Given the description of an element on the screen output the (x, y) to click on. 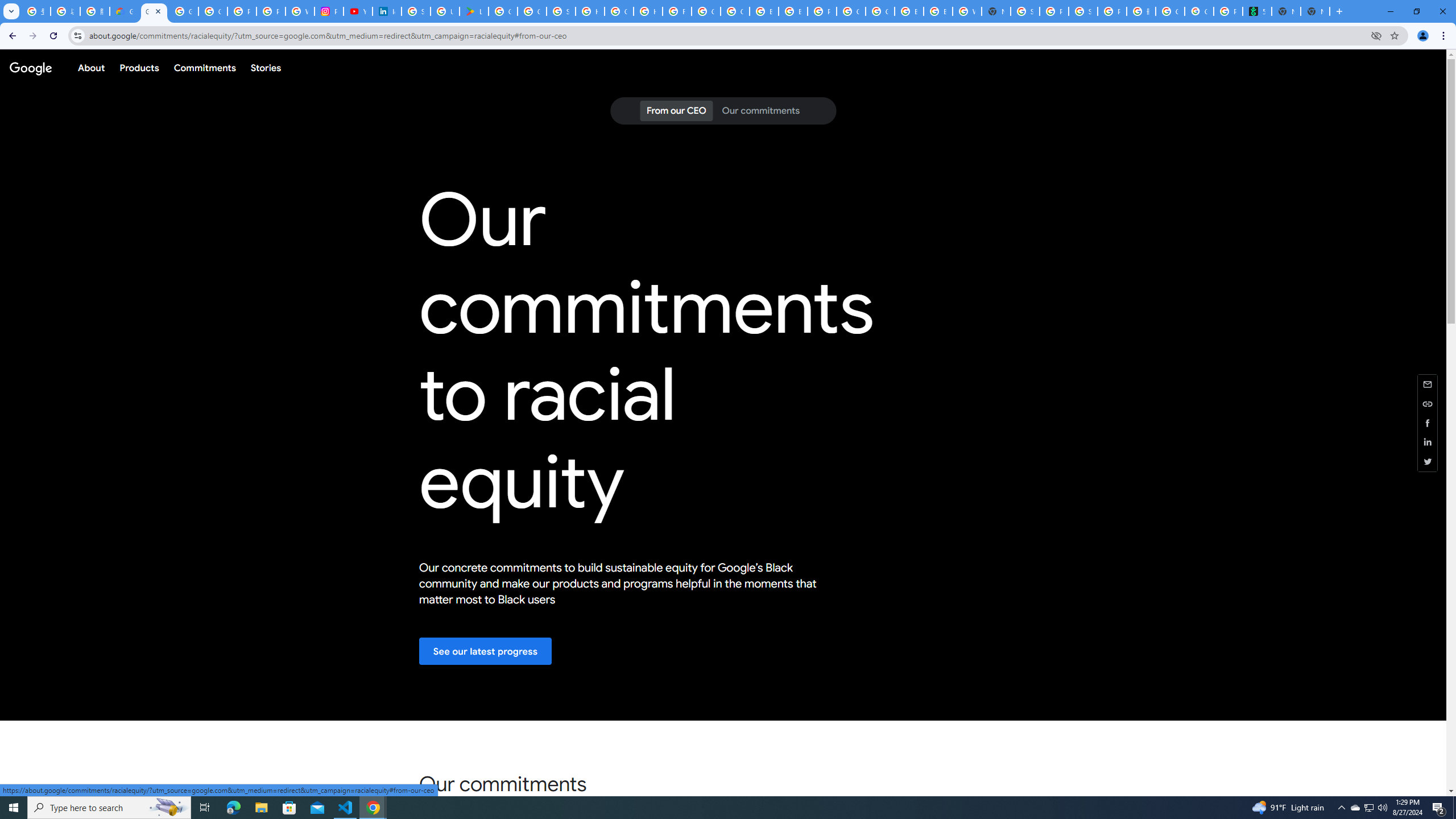
Share this page (Twitter) (1427, 461)
New Tab (996, 11)
About (90, 67)
Stories (265, 67)
Share this page (Facebook) (1427, 422)
Google (30, 67)
See our latest progress (485, 651)
